Given the description of an element on the screen output the (x, y) to click on. 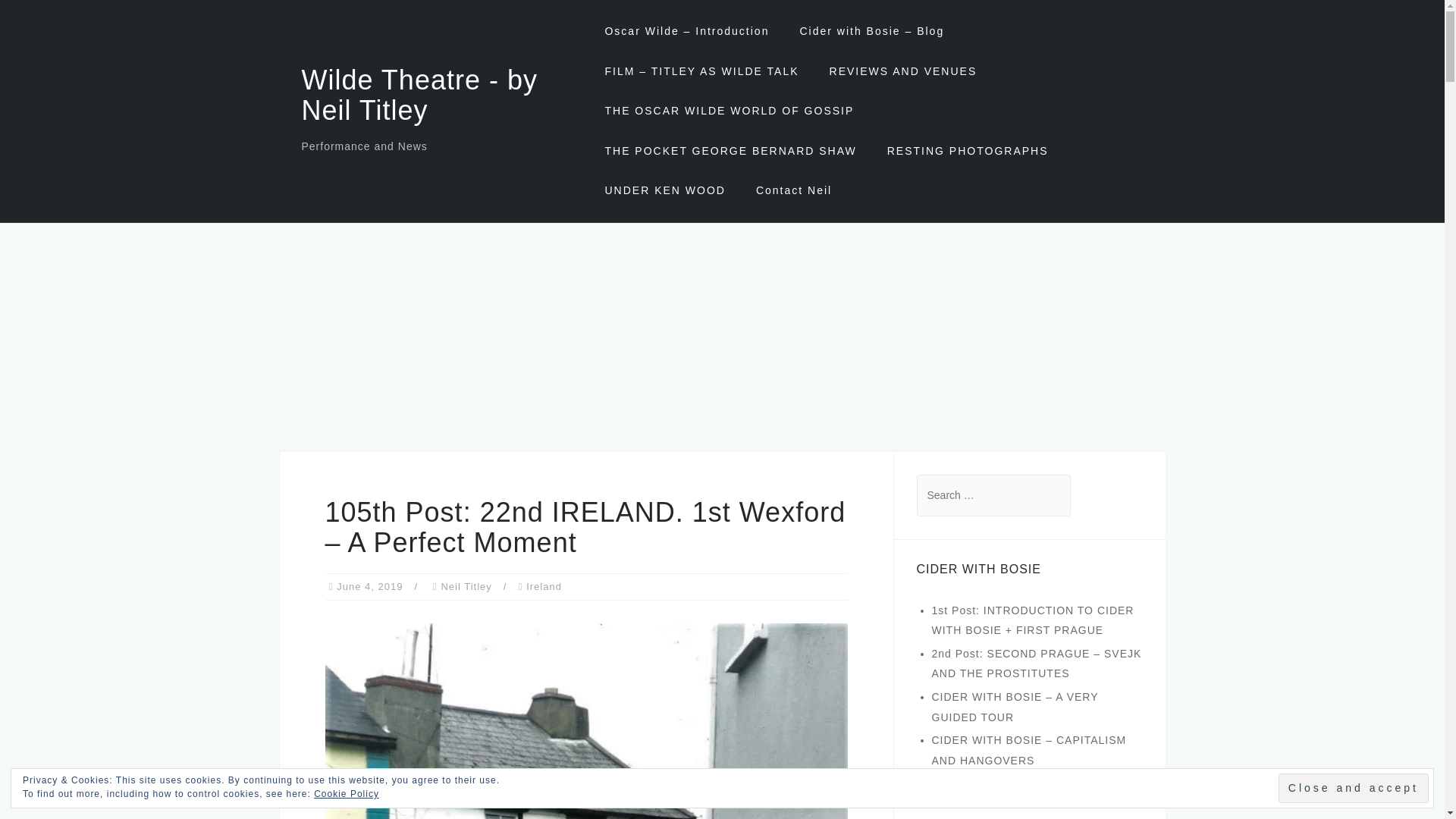
Close and accept (1353, 788)
Search (54, 20)
June 4, 2019 (369, 586)
THE POCKET GEORGE BERNARD SHAW (730, 150)
THE OSCAR WILDE WORLD OF GOSSIP (728, 110)
RESTING PHOTOGRAPHS (967, 150)
Wilde Theatre - by Neil Titley (419, 95)
REVIEWS AND VENUES (902, 71)
Ireland (543, 586)
Neil Titley (466, 586)
UNDER KEN WOOD (664, 190)
Contact Neil (793, 190)
